Given the description of an element on the screen output the (x, y) to click on. 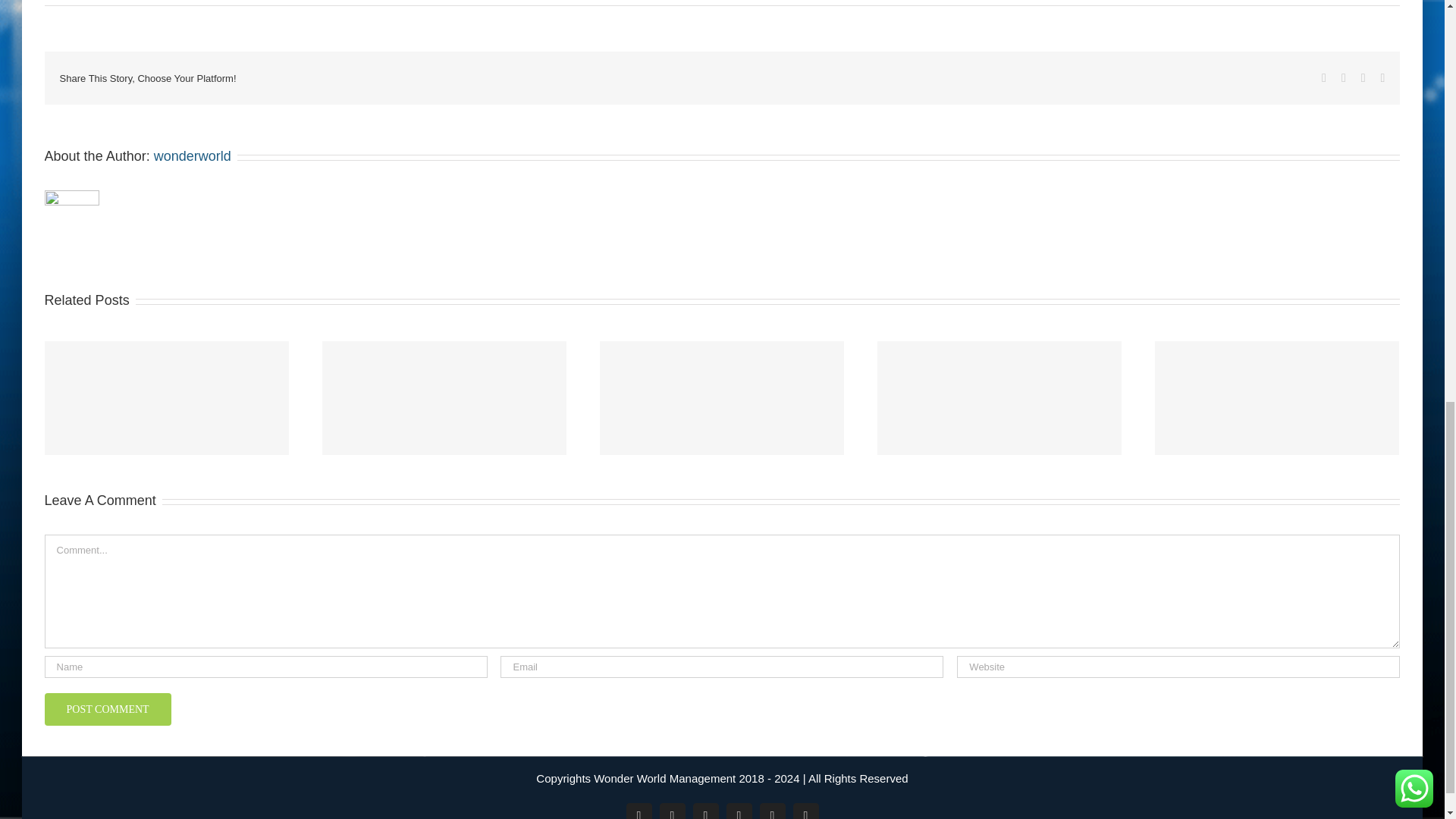
Posts by wonderworld (192, 155)
Post Comment (108, 708)
